Given the description of an element on the screen output the (x, y) to click on. 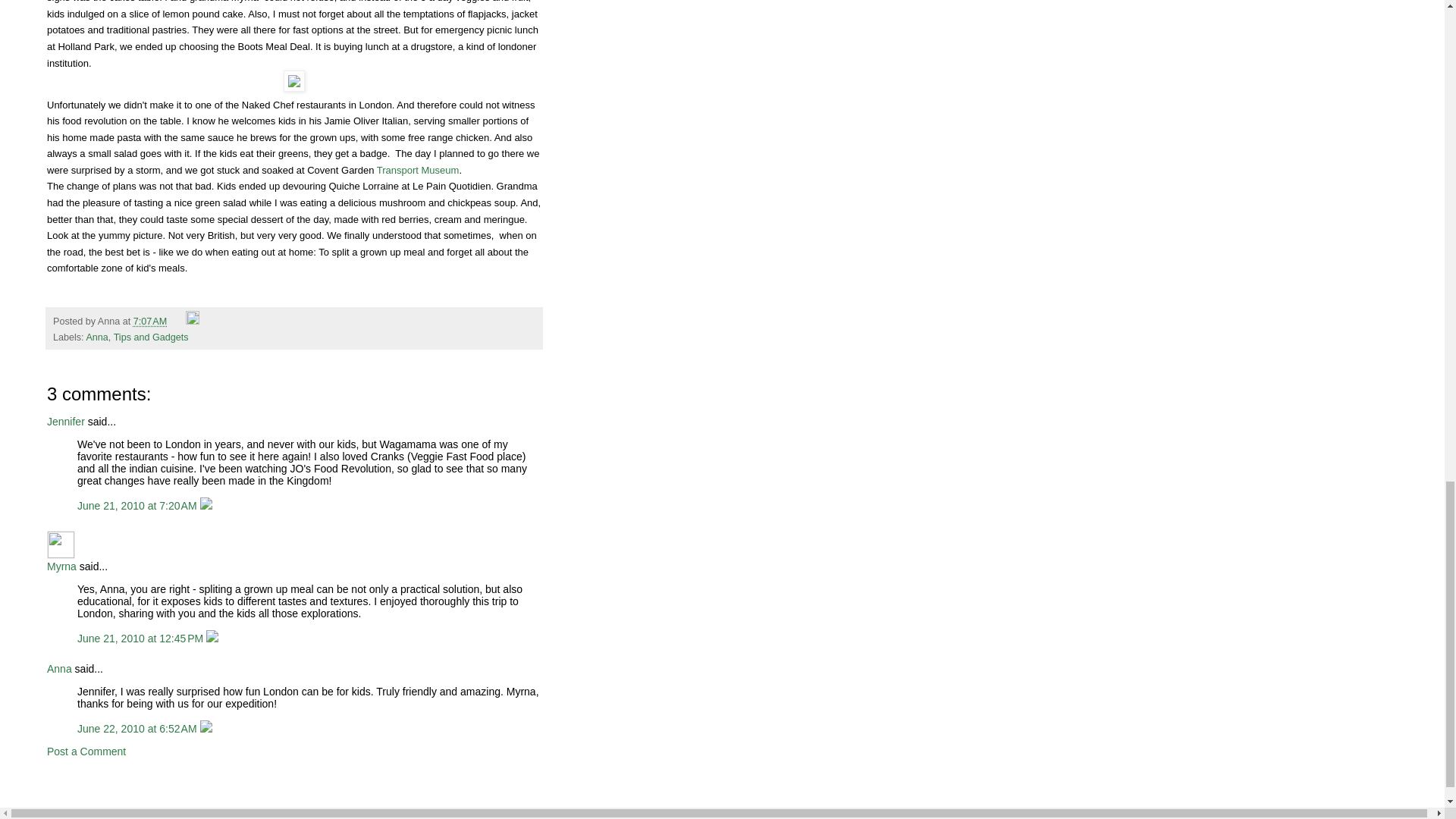
comment permalink (138, 728)
permanent link (150, 321)
Myrna (61, 565)
comment permalink (141, 638)
comment permalink (138, 505)
Myrna (60, 544)
Transport Museum (418, 170)
Edit Post (192, 321)
